Given the description of an element on the screen output the (x, y) to click on. 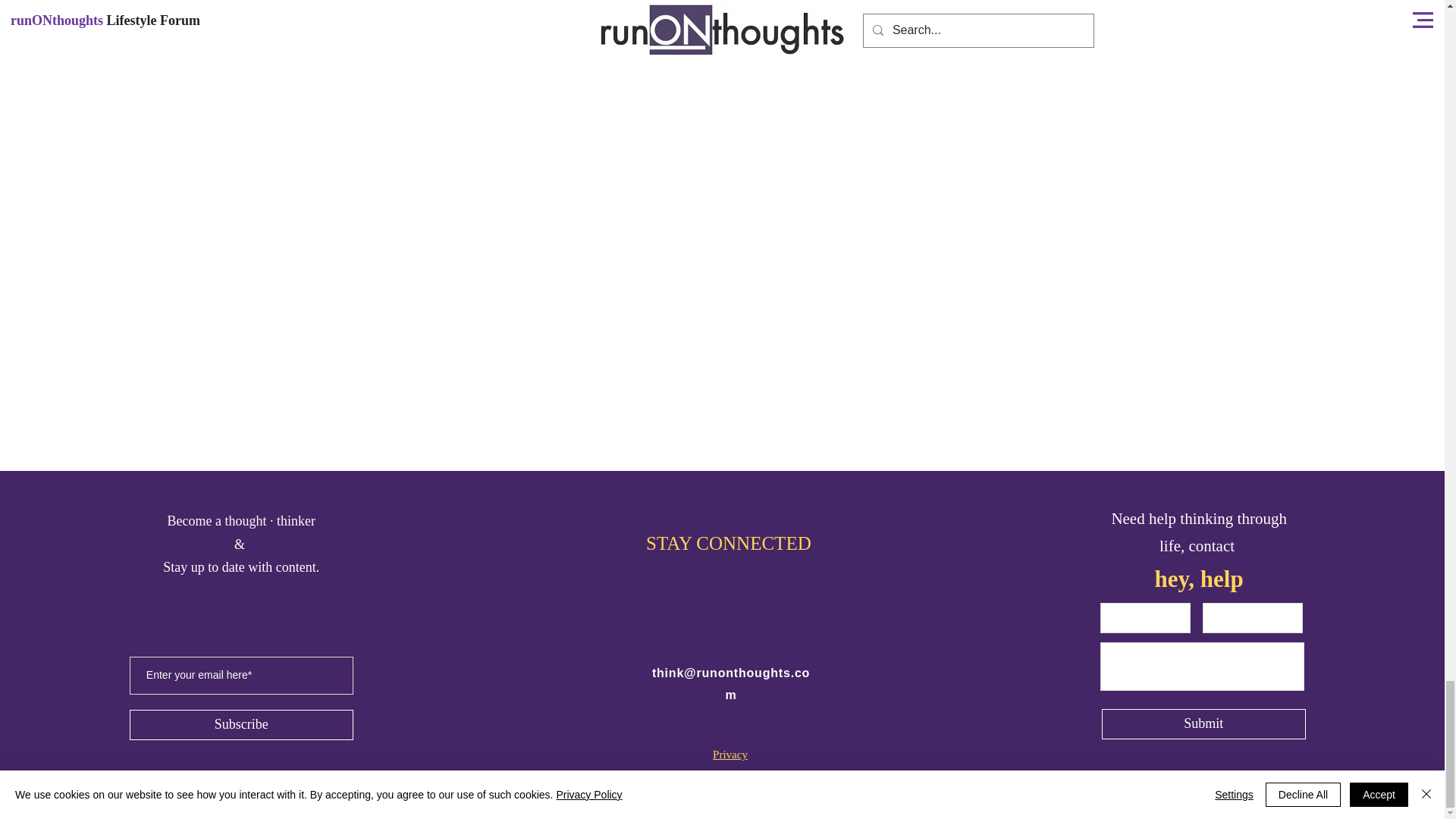
Subscribe (241, 725)
Submit (1204, 724)
Privacy (730, 754)
